Given the description of an element on the screen output the (x, y) to click on. 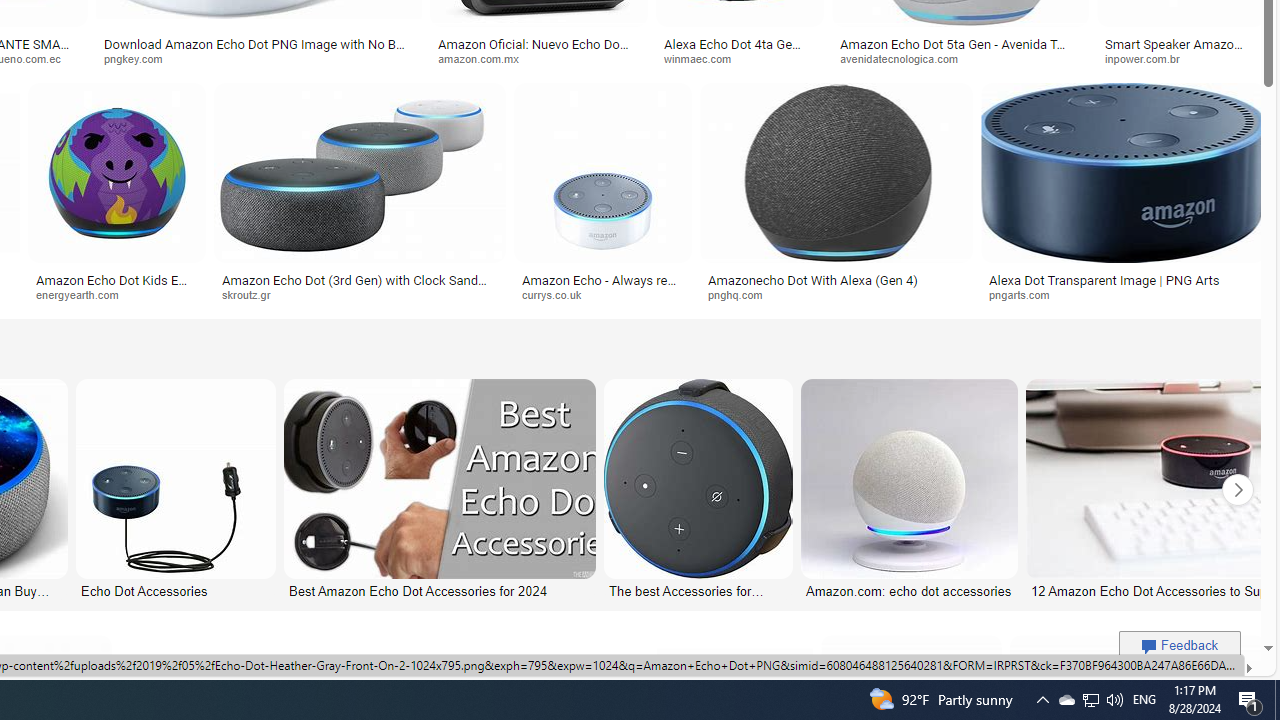
pnghq.com (741, 294)
Echo Dot Accessories (175, 589)
Click to scroll right (1238, 489)
winmaec.com (740, 58)
Best Amazon Echo Dot Accessories for 2024 (437, 589)
Alexa Dot Transparent Image | PNG Arts (1123, 279)
Alexa Dot Transparent Image | PNG Arts (1104, 279)
Echo Dot Accessories Echo Dot Accessories (175, 489)
Alexa Dot Transparent Image | PNG Artspngarts.comSave (1122, 196)
